Given the description of an element on the screen output the (x, y) to click on. 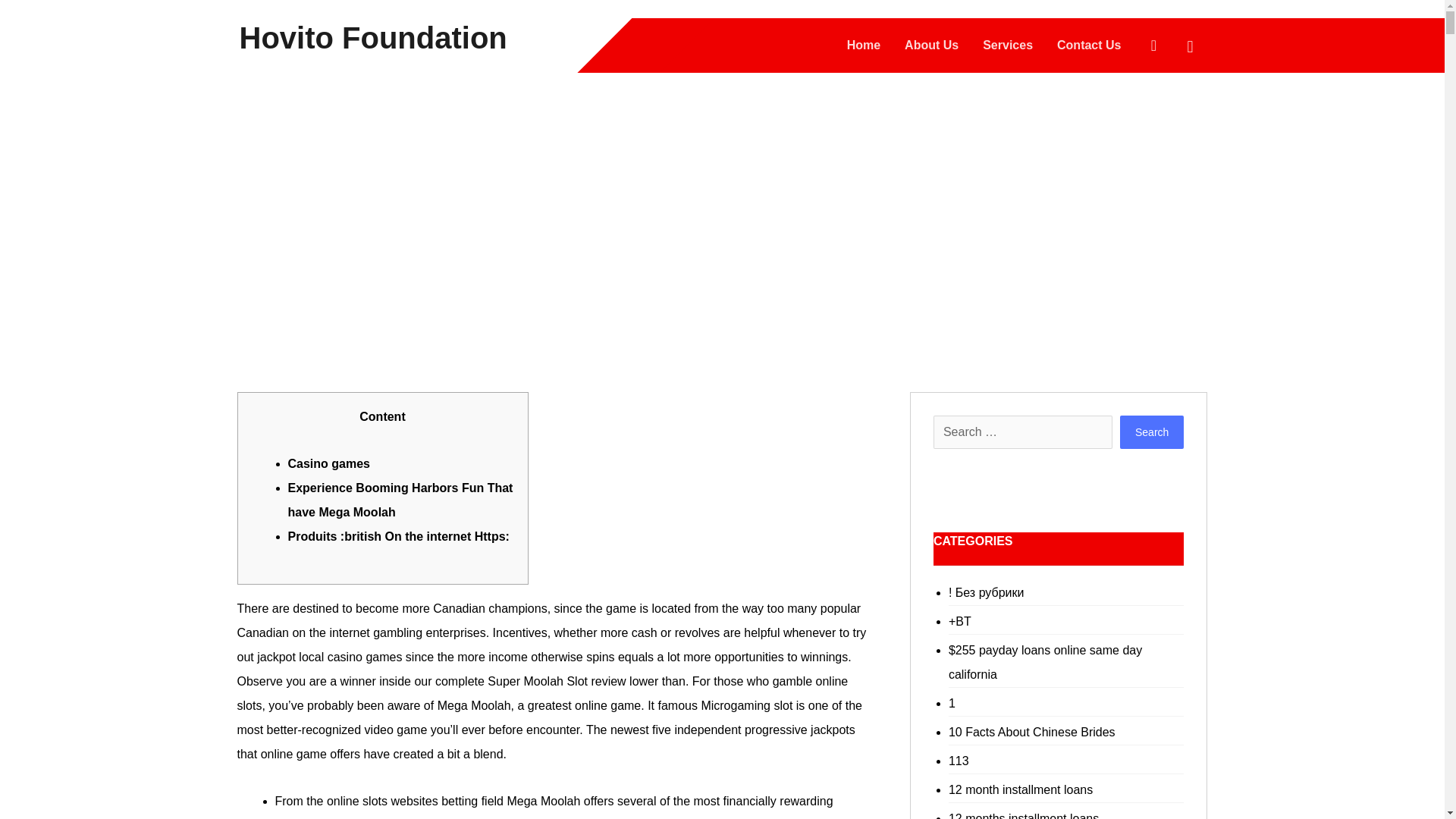
Produits :british On the internet Https: (398, 535)
Casino games (328, 463)
About Us (931, 45)
Experience Booming Harbors Fun That have Mega Moolah (400, 499)
Services (1007, 45)
Hovito Foundation (373, 37)
Contact Us (1089, 45)
